Given the description of an element on the screen output the (x, y) to click on. 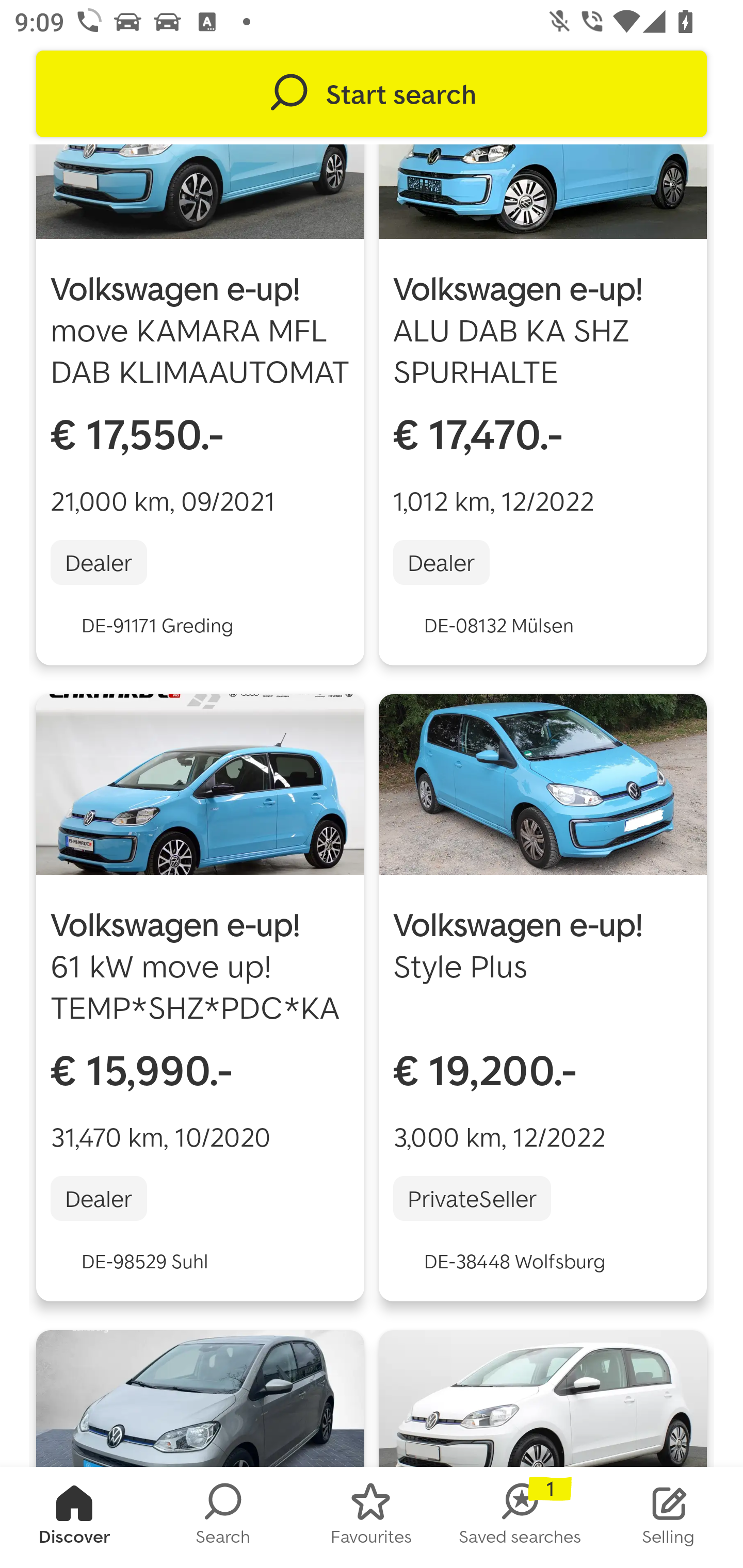
Start search (371, 93)
HOMESCREEN Discover (74, 1517)
SEARCH Search (222, 1517)
FAVORITES Favourites (371, 1517)
SAVED_SEARCHES Saved searches 1 (519, 1517)
STOCK_LIST Selling (668, 1517)
